Given the description of an element on the screen output the (x, y) to click on. 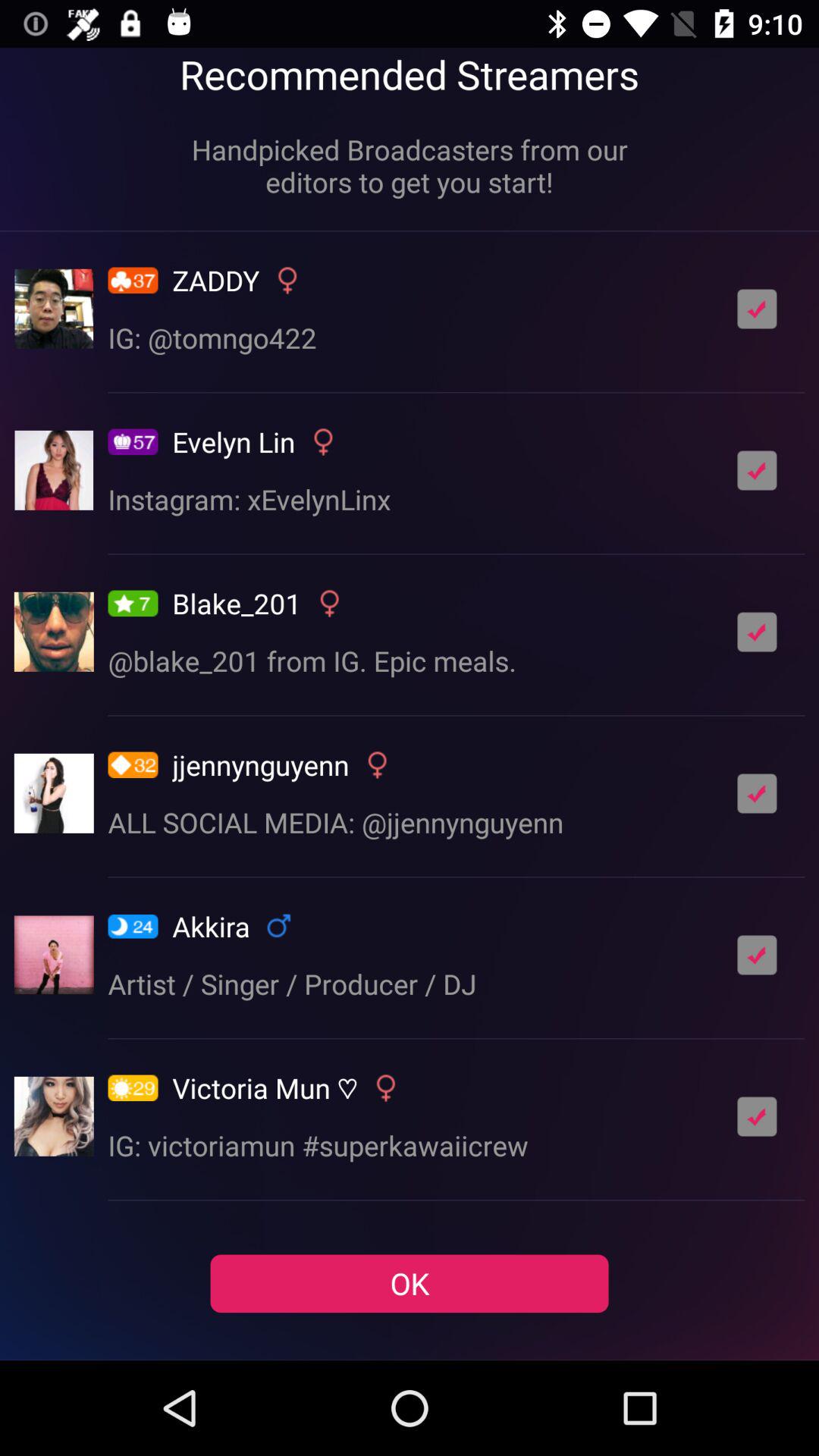
launch ok item (409, 1283)
